Given the description of an element on the screen output the (x, y) to click on. 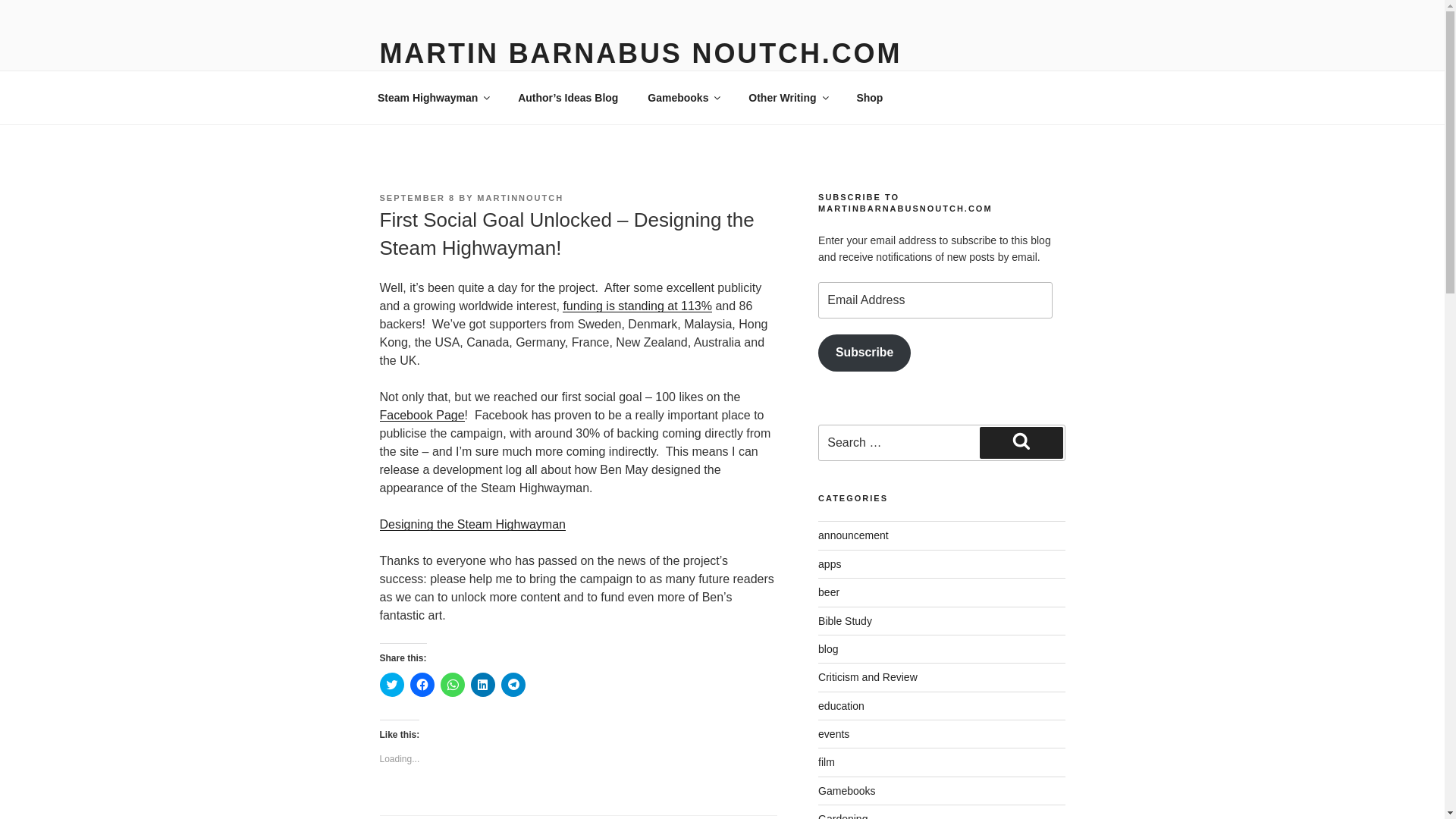
Steam Highwayman (432, 97)
Designing the Steam Highwayman (471, 523)
Click to share on WhatsApp (451, 684)
MARTIN BARNABUS NOUTCH.COM (639, 52)
SEPTEMBER 8 (416, 197)
Click to share on LinkedIn (482, 684)
Click to share on Facebook (421, 684)
Gamebooks (683, 97)
Other Writing (787, 97)
MARTINNOUTCH (520, 197)
Click to share on Twitter (390, 684)
Click to share on Telegram (512, 684)
Facebook Page (421, 414)
Shop (869, 97)
